Given the description of an element on the screen output the (x, y) to click on. 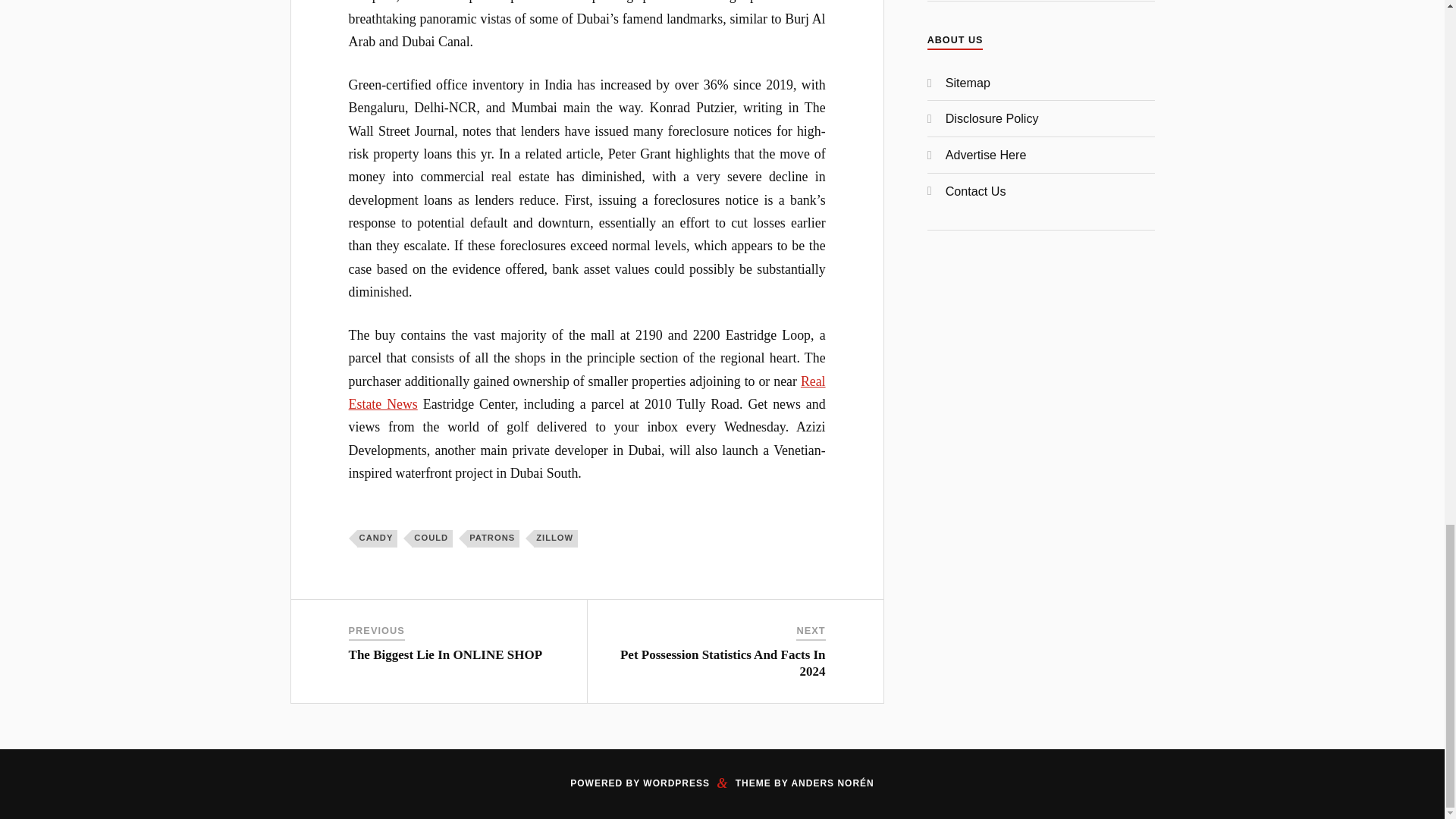
The Biggest Lie In ONLINE SHOP (446, 654)
Pet Possession Statistics And Facts In 2024 (722, 662)
ZILLOW (556, 538)
Real Estate News (587, 392)
COULD (432, 538)
PATRONS (493, 538)
CANDY (376, 538)
